Given the description of an element on the screen output the (x, y) to click on. 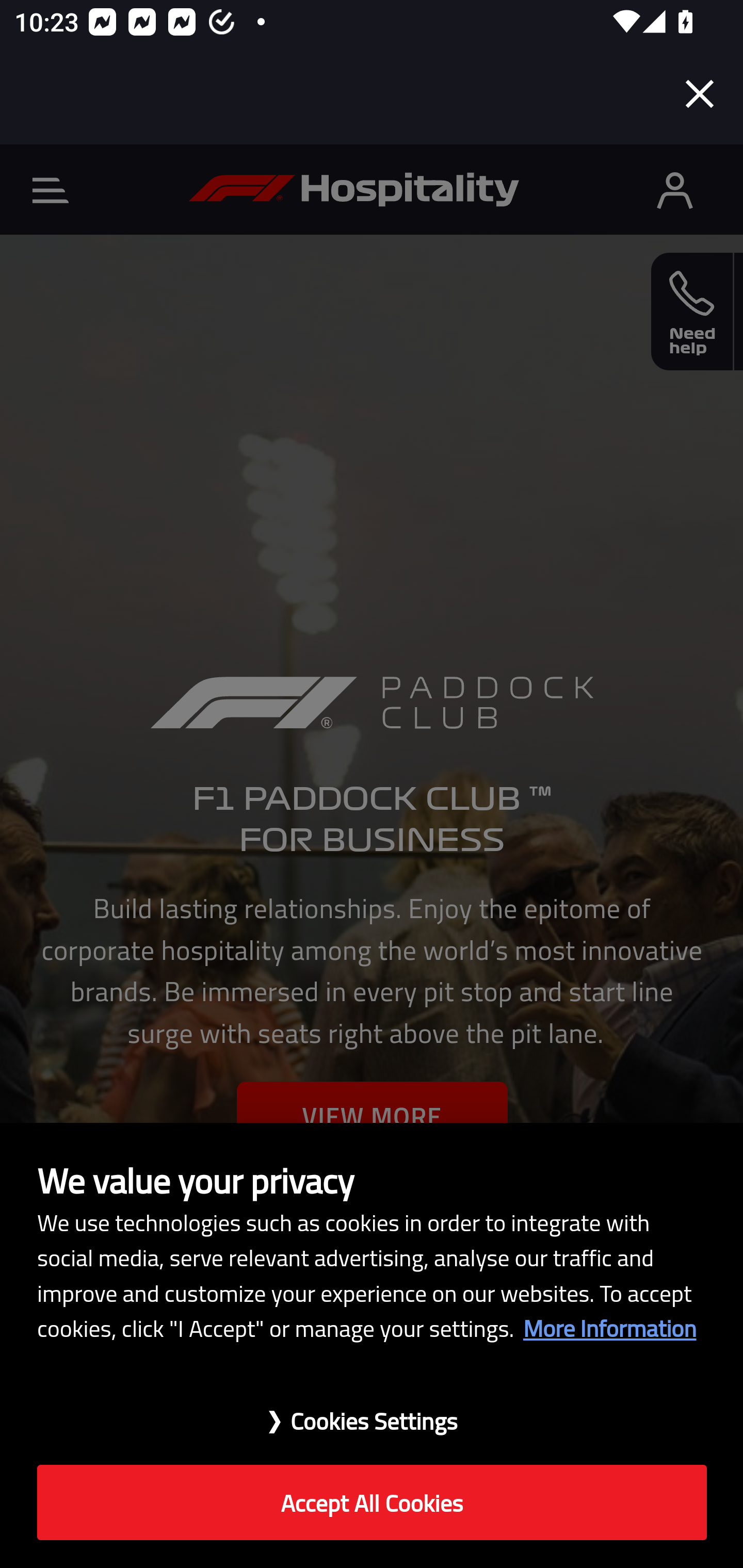
Close (699, 93)
Toggle Menu (51, 190)
 (674, 188)
Formula 1 (353, 188)
phone Need help (692, 311)
More Information (608, 1327)
❯Cookies Settings (372, 1411)
Accept All Cookies (372, 1502)
